Given the description of an element on the screen output the (x, y) to click on. 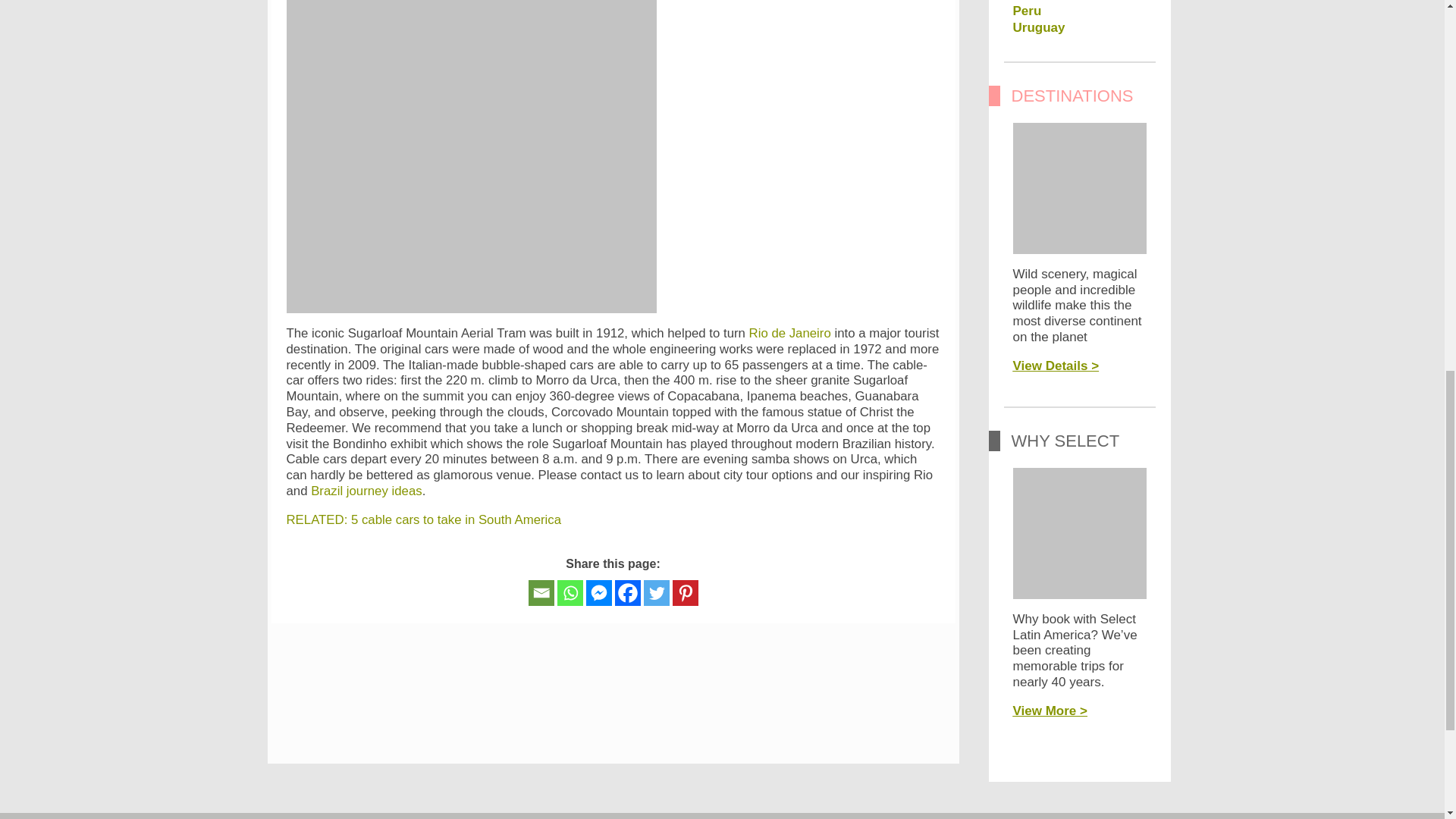
Brazil holidays (366, 490)
Whatsapp (569, 592)
Twitter (655, 592)
Facebook (627, 592)
Rio (790, 332)
Email (540, 592)
Pinterest (684, 592)
